Given the description of an element on the screen output the (x, y) to click on. 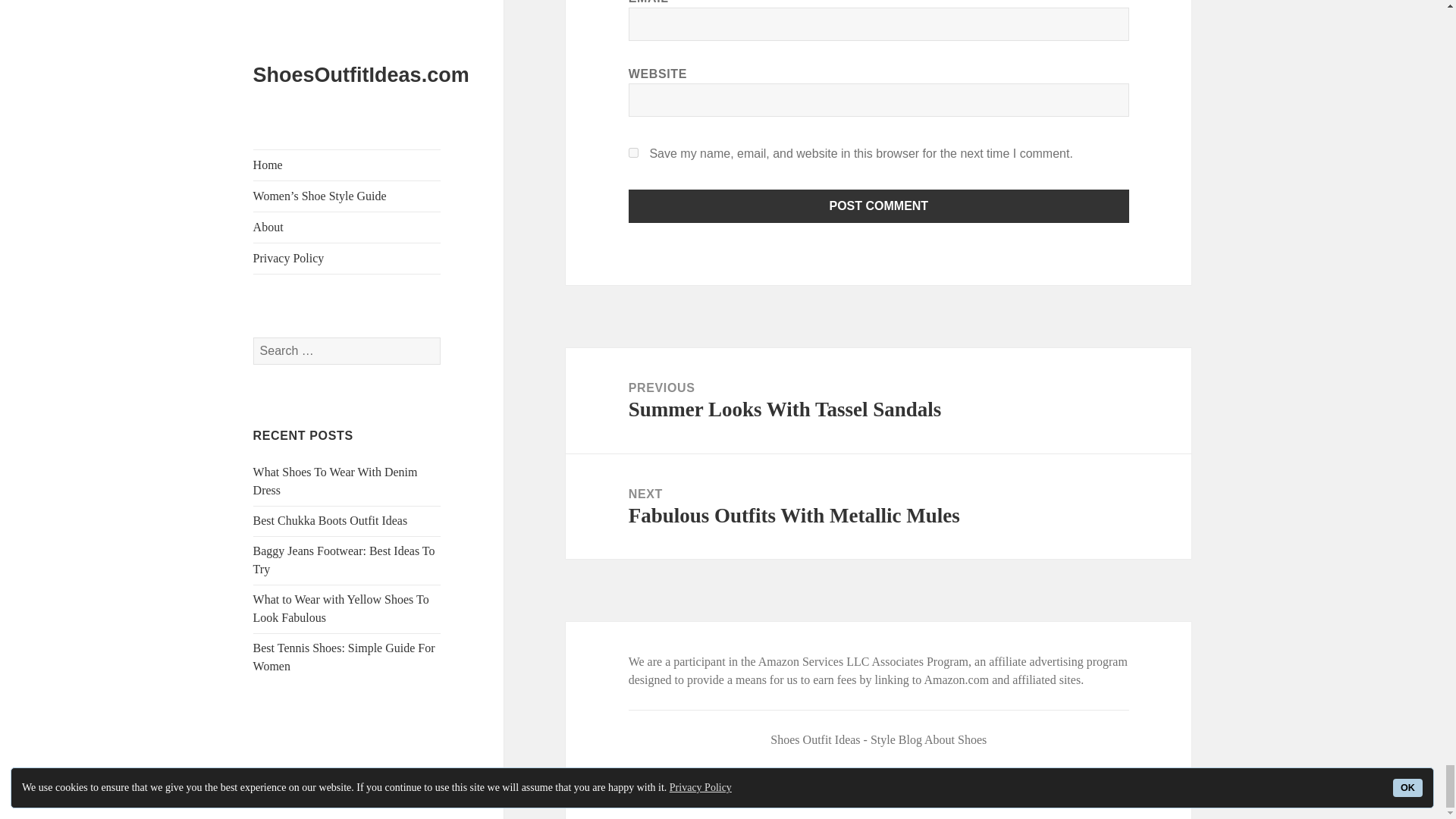
yes (633, 153)
Post Comment (878, 205)
